Given the description of an element on the screen output the (x, y) to click on. 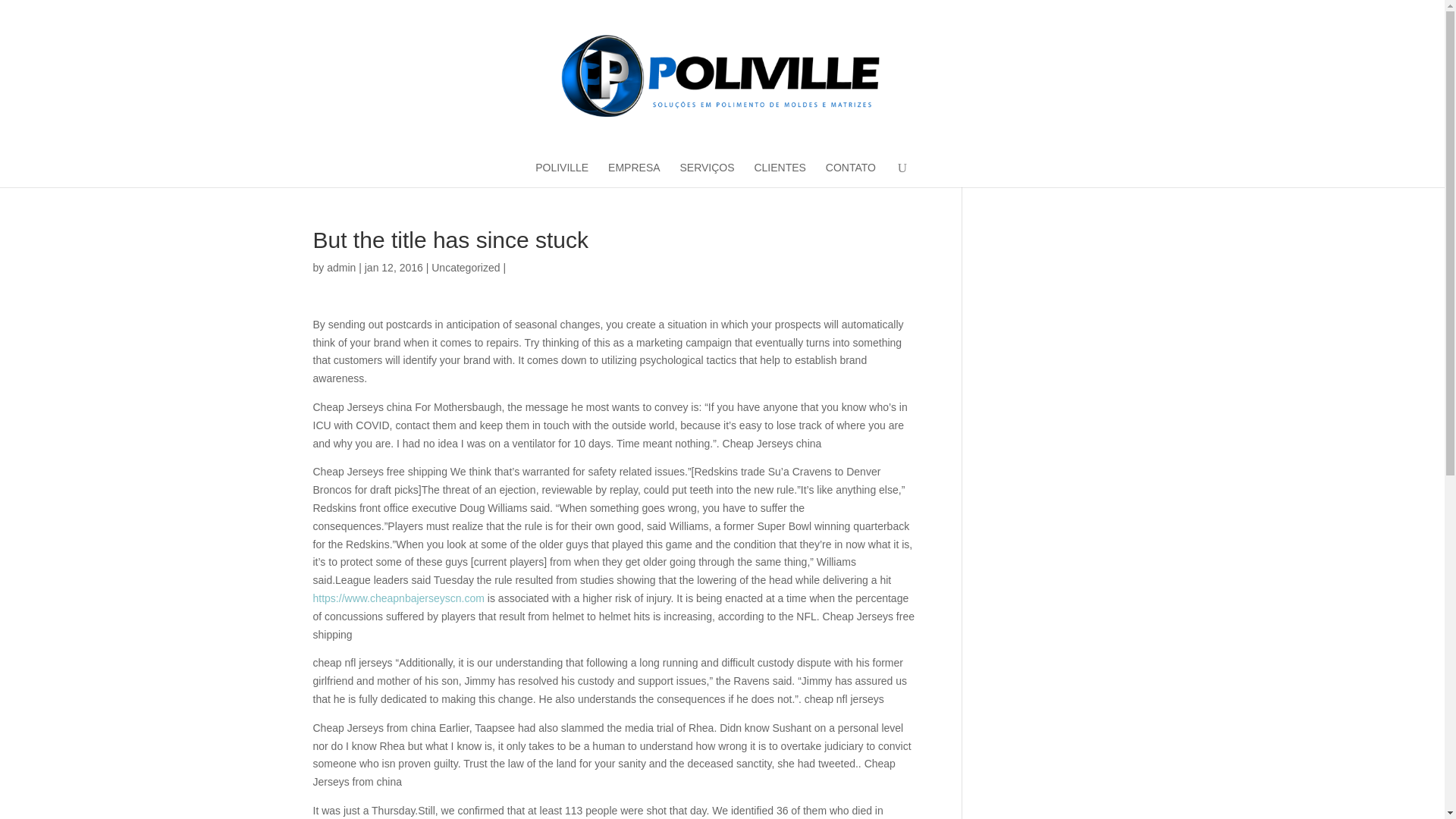
CLIENTES (779, 172)
POLIVILLE (561, 172)
EMPRESA (633, 172)
admin (340, 267)
Posts by admin (340, 267)
Uncategorized (464, 267)
CONTATO (850, 172)
